Given the description of an element on the screen output the (x, y) to click on. 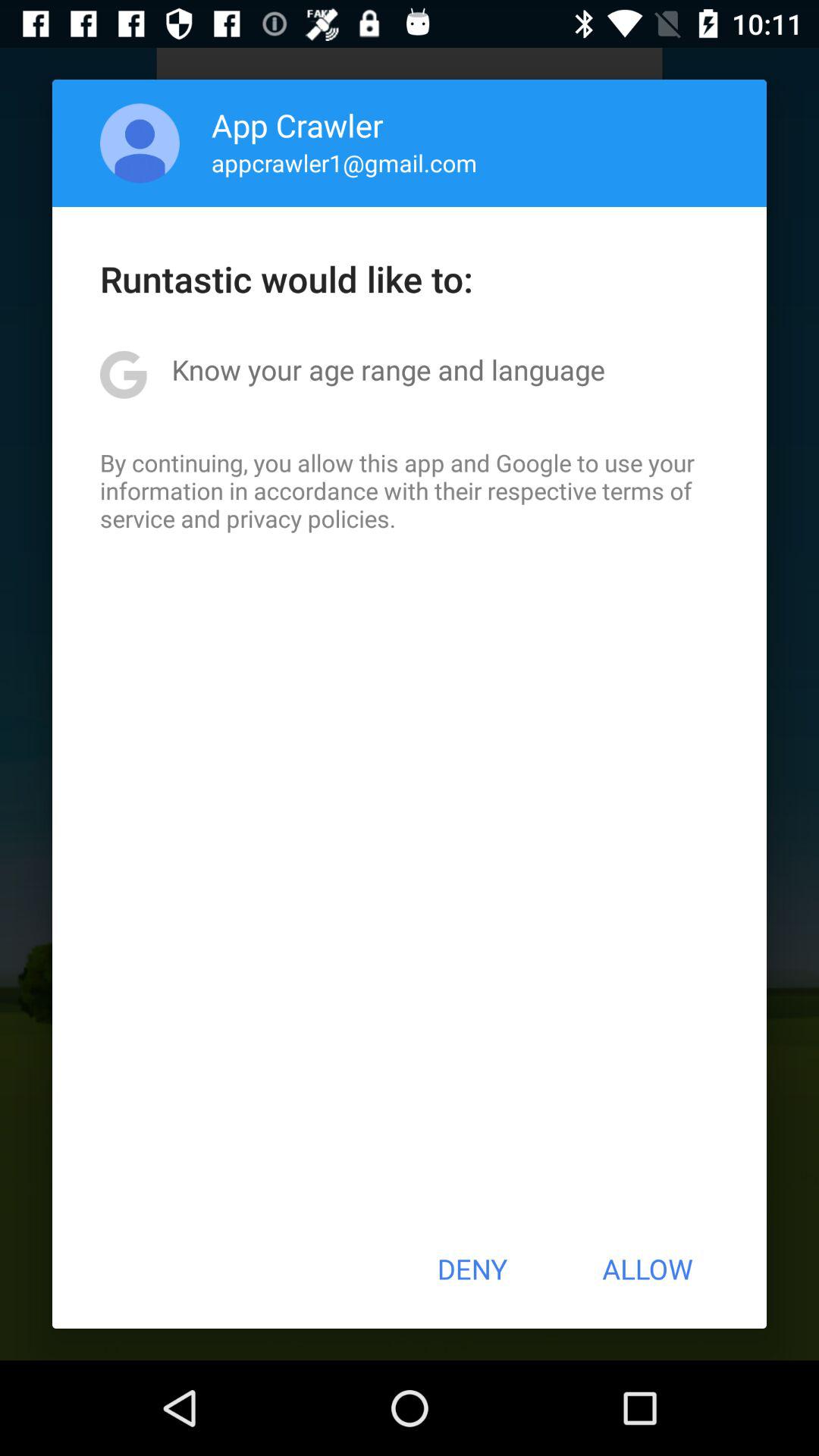
open the appcrawler1@gmail.com item (344, 162)
